Given the description of an element on the screen output the (x, y) to click on. 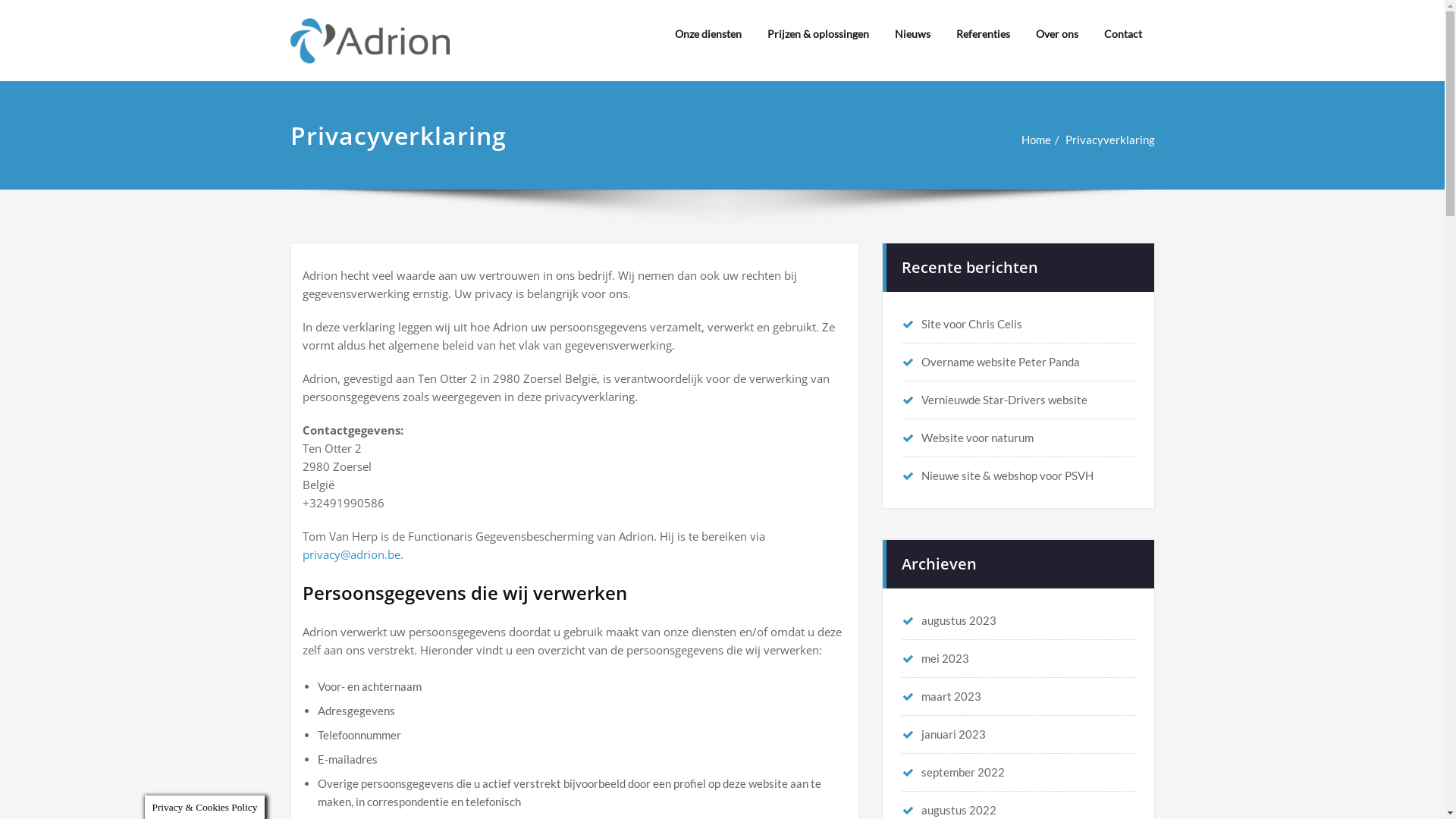
Over ons Element type: text (1056, 34)
augustus 2022 Element type: text (947, 809)
Prijzen & oplossingen Element type: text (817, 34)
maart 2023 Element type: text (940, 695)
Referenties Element type: text (982, 34)
Website voor naturum Element type: text (966, 437)
Home Element type: text (1035, 139)
Overname website Peter Panda Element type: text (989, 361)
Nieuws Element type: text (911, 34)
Privacyverklaring Element type: text (1109, 139)
Nieuwe site & webshop voor PSVH Element type: text (996, 475)
Onze diensten Element type: text (707, 34)
Contact Element type: text (1122, 34)
Vernieuwde Star-Drivers website Element type: text (993, 399)
mei 2023 Element type: text (934, 658)
januari 2023 Element type: text (942, 733)
privacy@adrion.be Element type: text (350, 553)
september 2022 Element type: text (952, 771)
augustus 2023 Element type: text (947, 620)
Site voor Chris Celis Element type: text (960, 323)
